Given the description of an element on the screen output the (x, y) to click on. 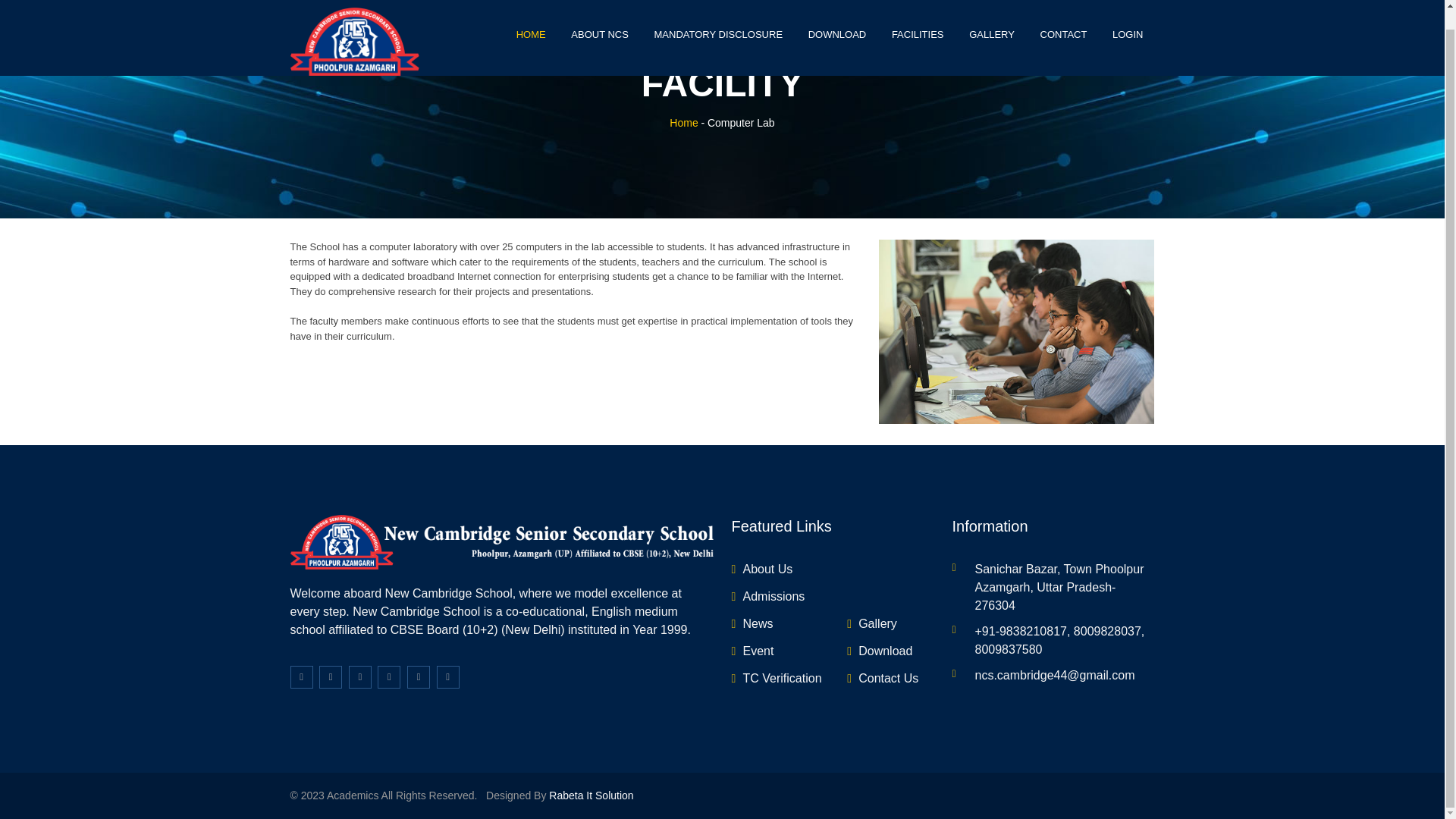
FACILITIES (917, 16)
GALLERY (992, 16)
DOWNLOAD (836, 16)
CONTACT (1064, 16)
ABOUT NCS (599, 16)
LOGIN (1127, 16)
HOME (531, 16)
MANDATORY DISCLOSURE (718, 16)
